Given the description of an element on the screen output the (x, y) to click on. 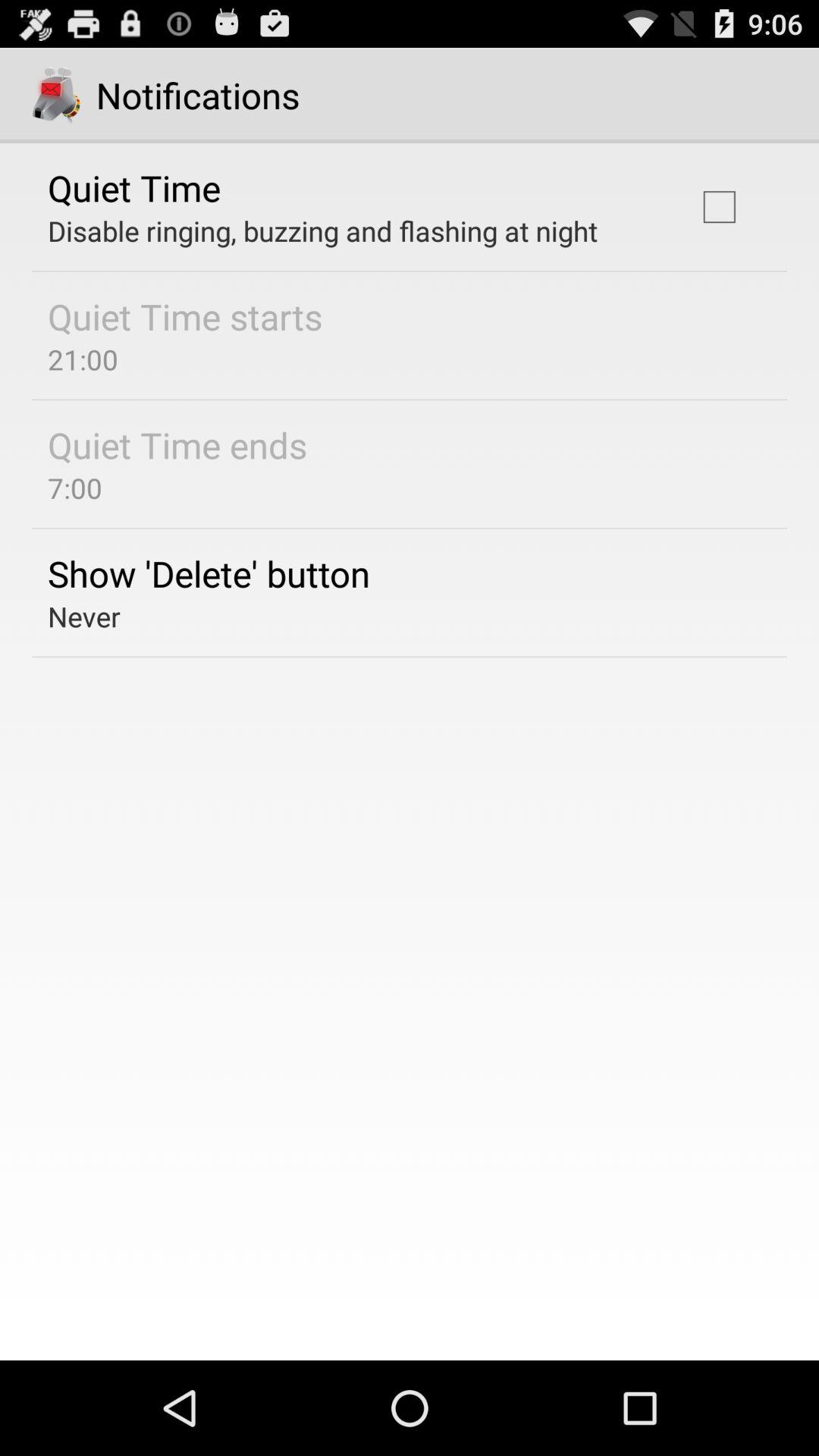
turn on the show 'delete' button item (208, 573)
